Given the description of an element on the screen output the (x, y) to click on. 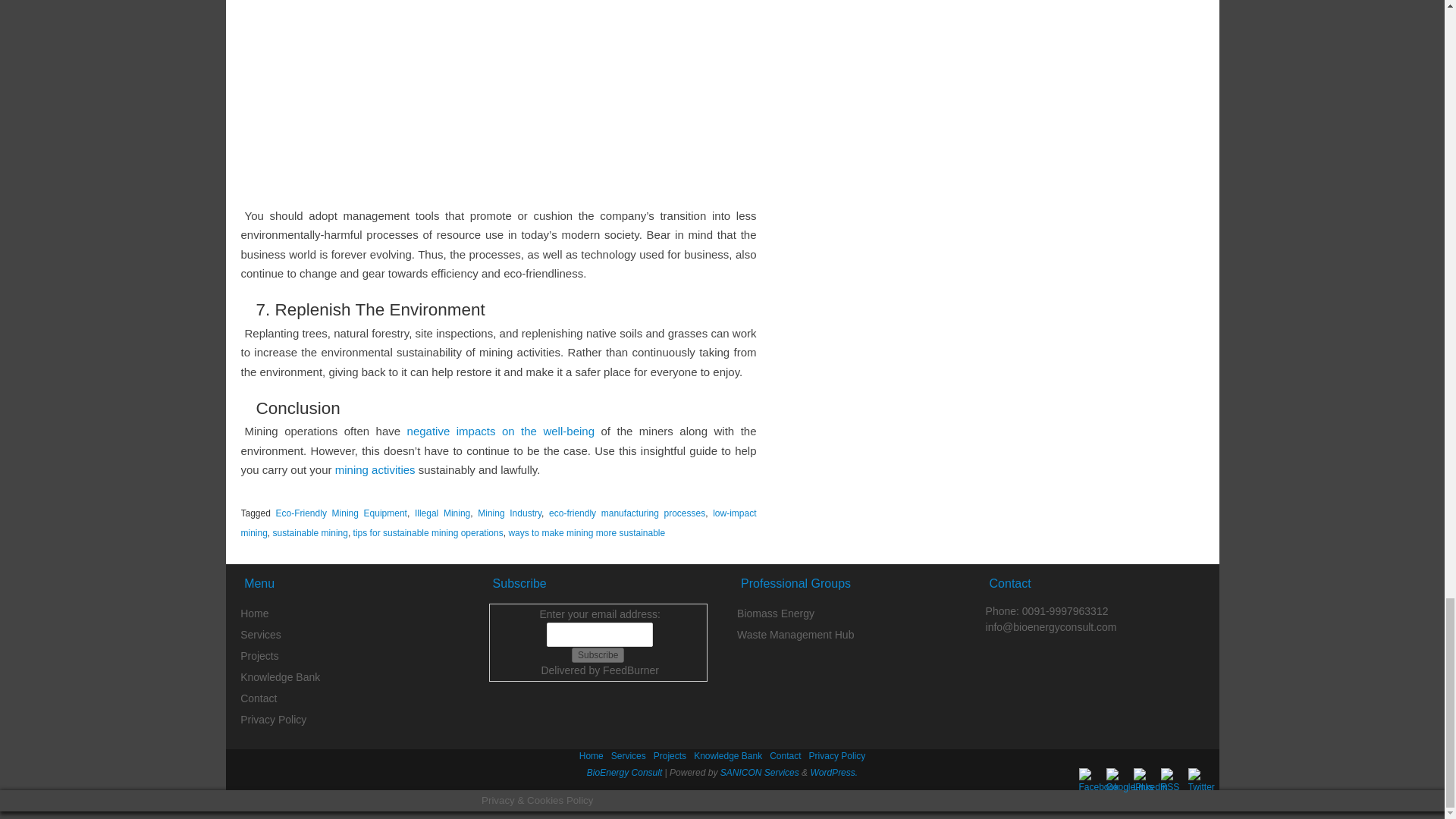
Eco-Friendly Mining Equipment (341, 512)
ways to make mining more sustainable (586, 532)
negative impacts on the well-being (500, 431)
Subscribe (598, 654)
Mining Industry (509, 512)
low-impact mining (499, 522)
tips for sustainable mining operations (428, 532)
Illegal Mining (442, 512)
sustainable mining (310, 532)
eco-friendly manufacturing processes (626, 512)
mining activities (374, 469)
